Given the description of an element on the screen output the (x, y) to click on. 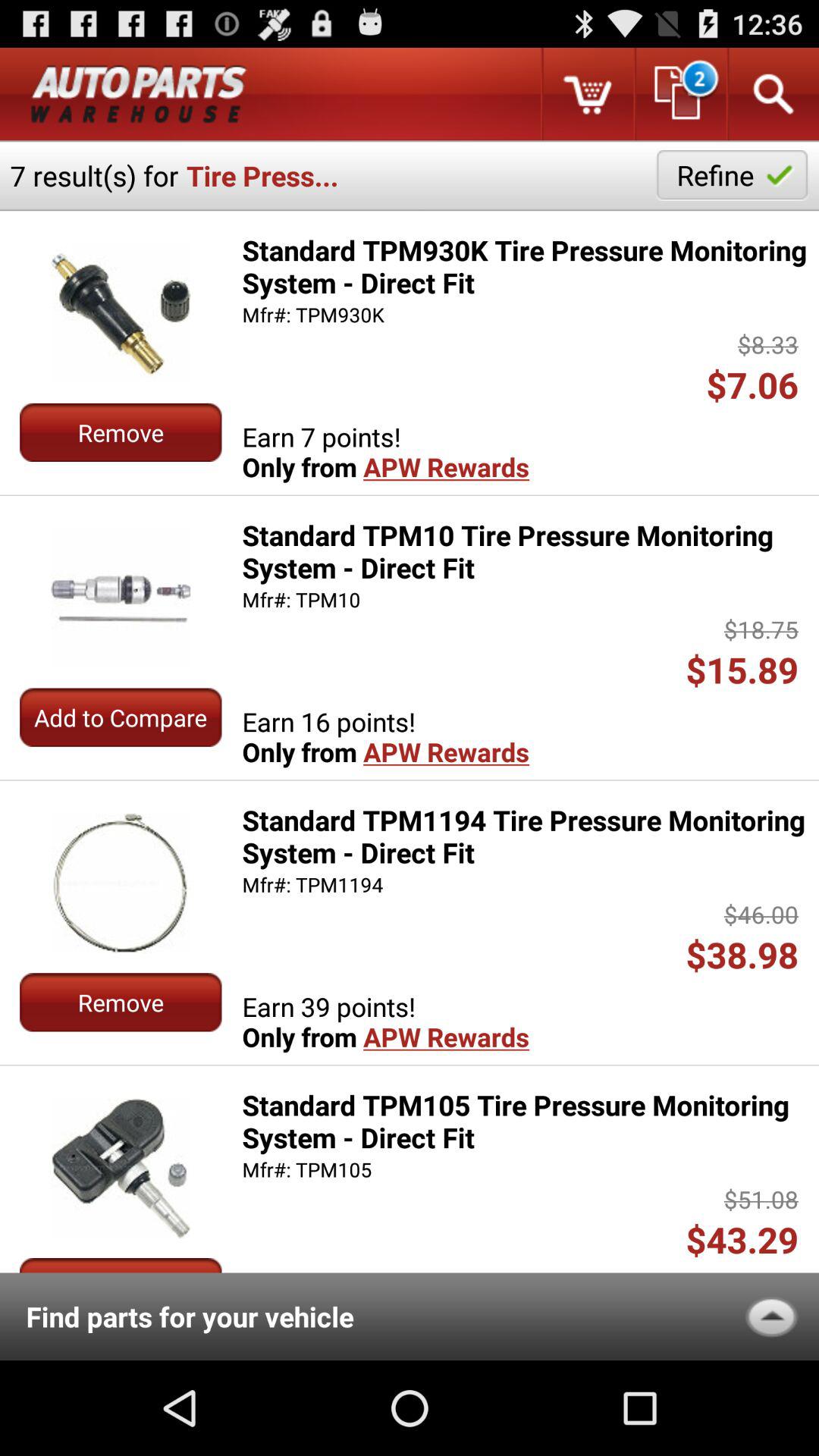
homepage (138, 93)
